Given the description of an element on the screen output the (x, y) to click on. 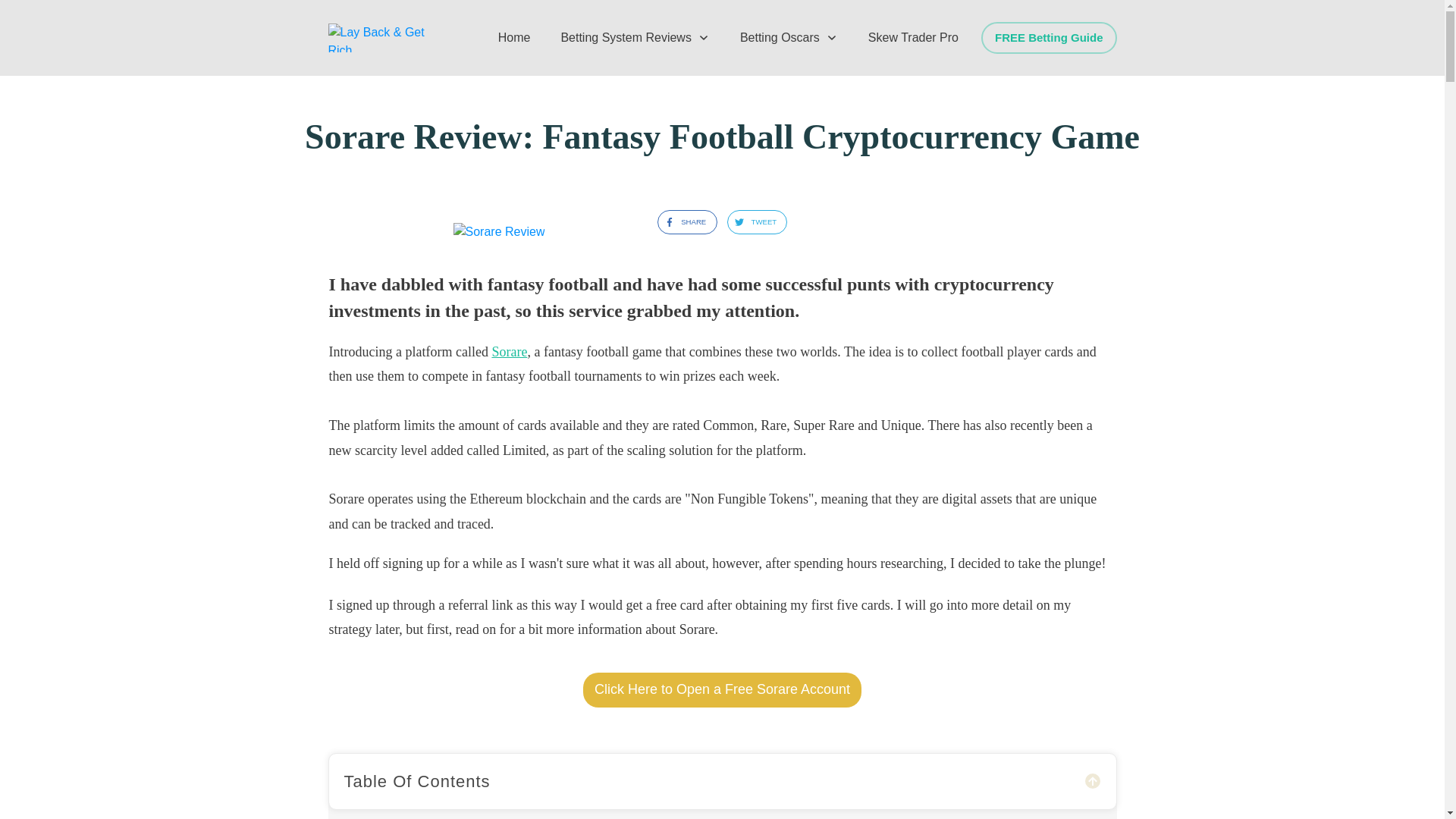
Click Here to Open a Free Sorare Account (722, 689)
Sorare Review: Fantasy Football Cryptocurrency Game (721, 230)
Sorare (509, 351)
SHARE (682, 222)
Betting Oscars (788, 37)
Home (514, 37)
Betting System Reviews (635, 37)
TWEET (752, 222)
Skew Trader Pro (912, 37)
FREE Betting Guide (1048, 37)
